Given the description of an element on the screen output the (x, y) to click on. 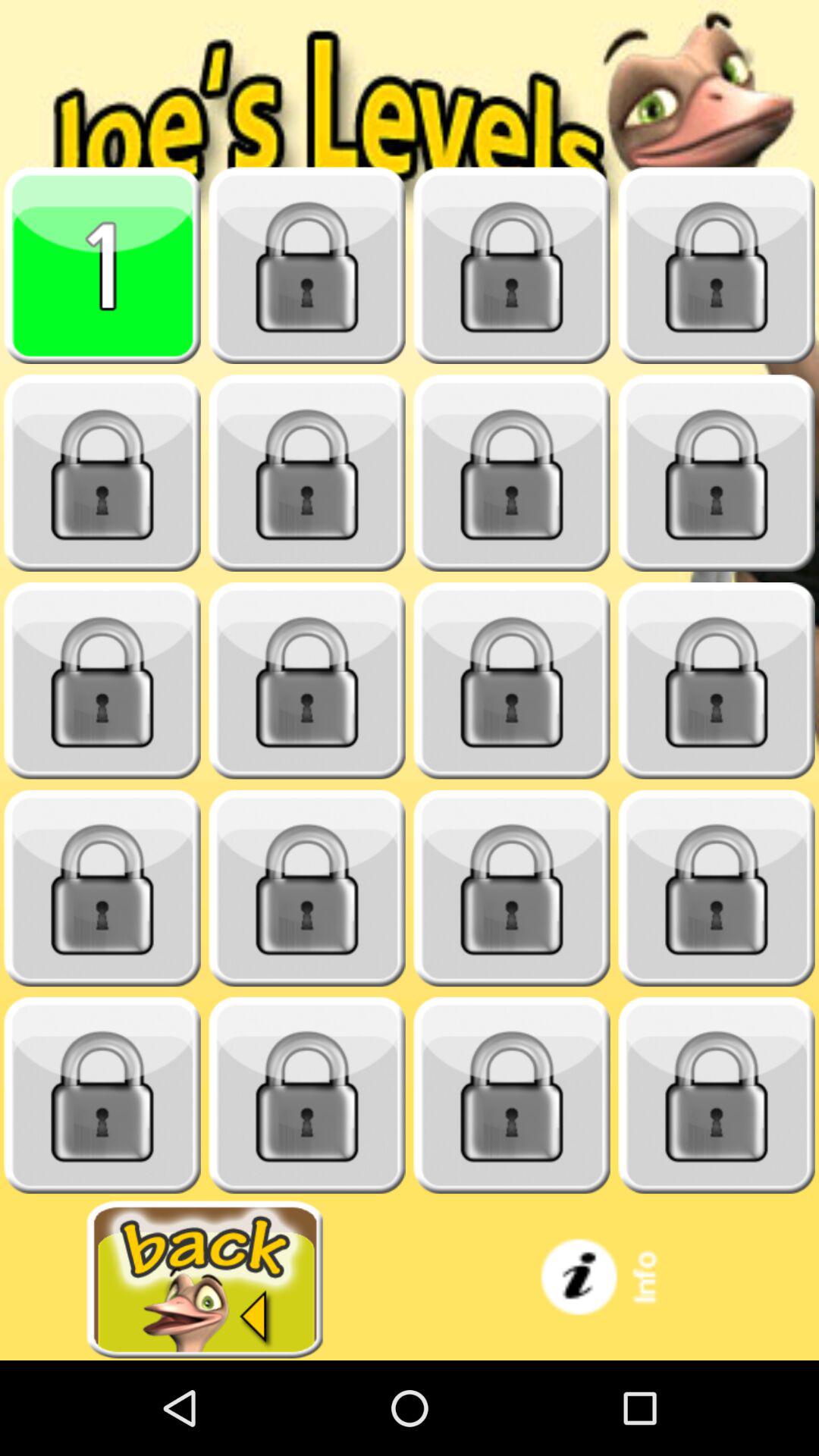
unlock level (102, 473)
